Given the description of an element on the screen output the (x, y) to click on. 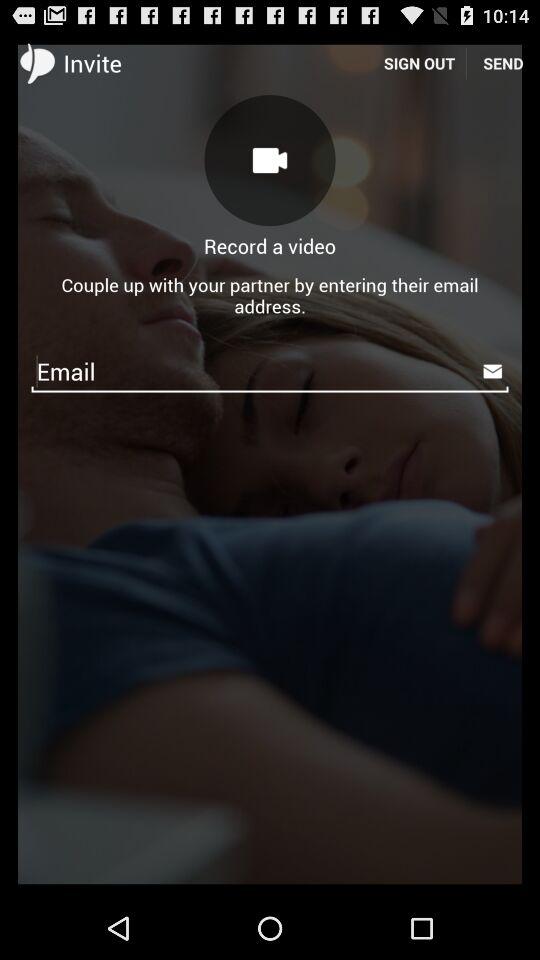
press icon next to sign out (269, 159)
